Given the description of an element on the screen output the (x, y) to click on. 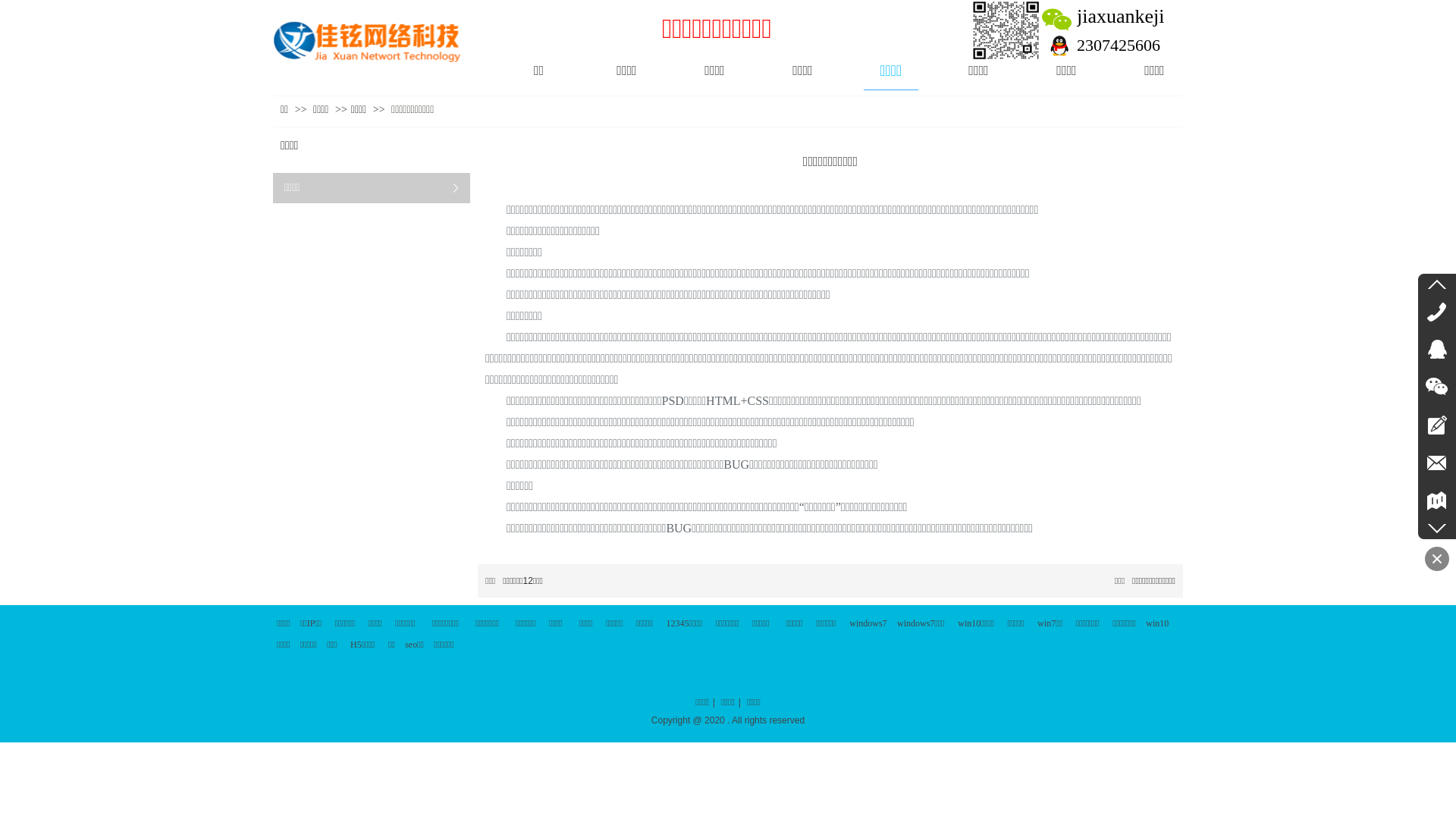
windows7 Element type: text (867, 623)
